Given the description of an element on the screen output the (x, y) to click on. 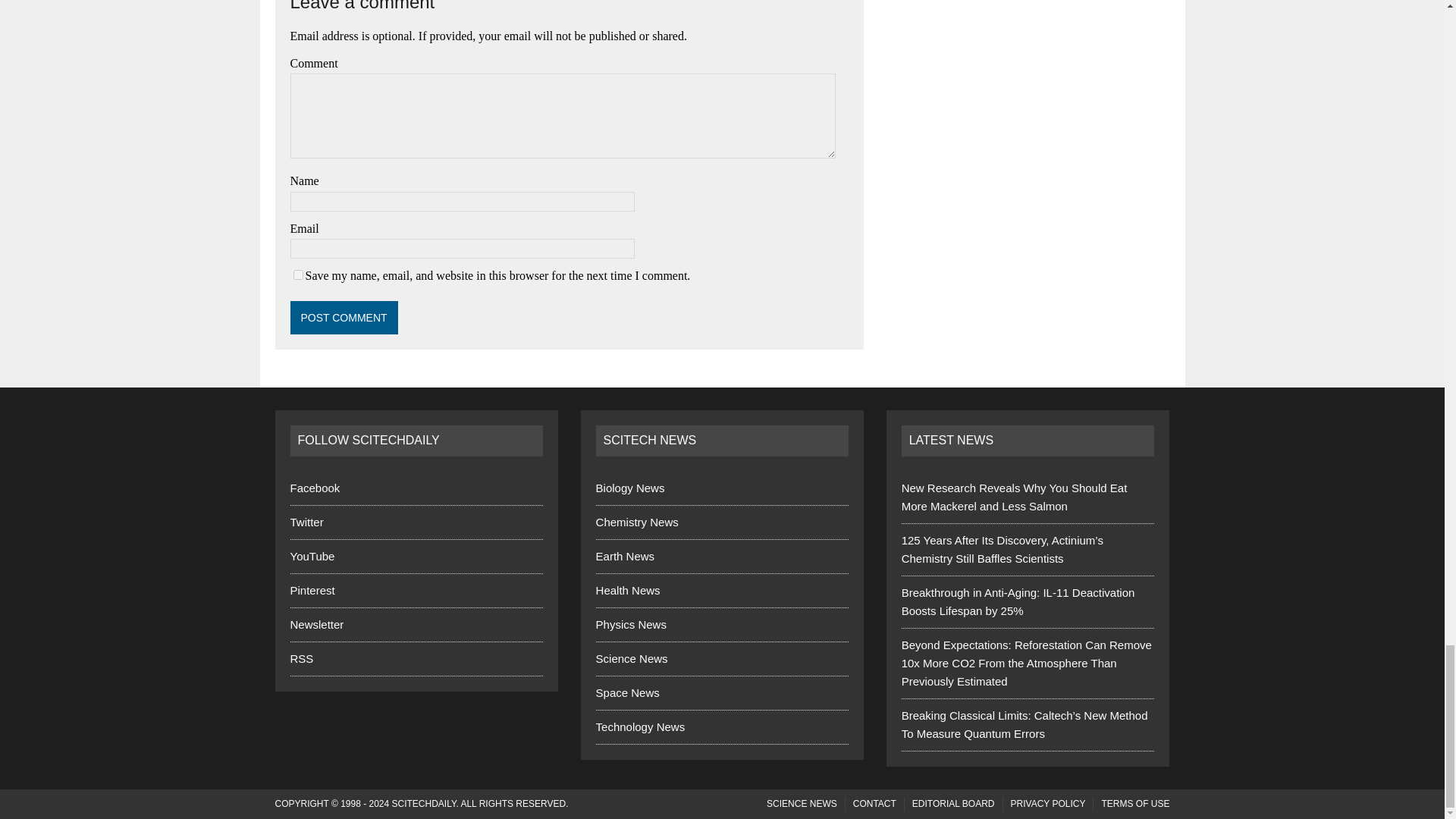
Post Comment (343, 317)
yes (297, 275)
